Given the description of an element on the screen output the (x, y) to click on. 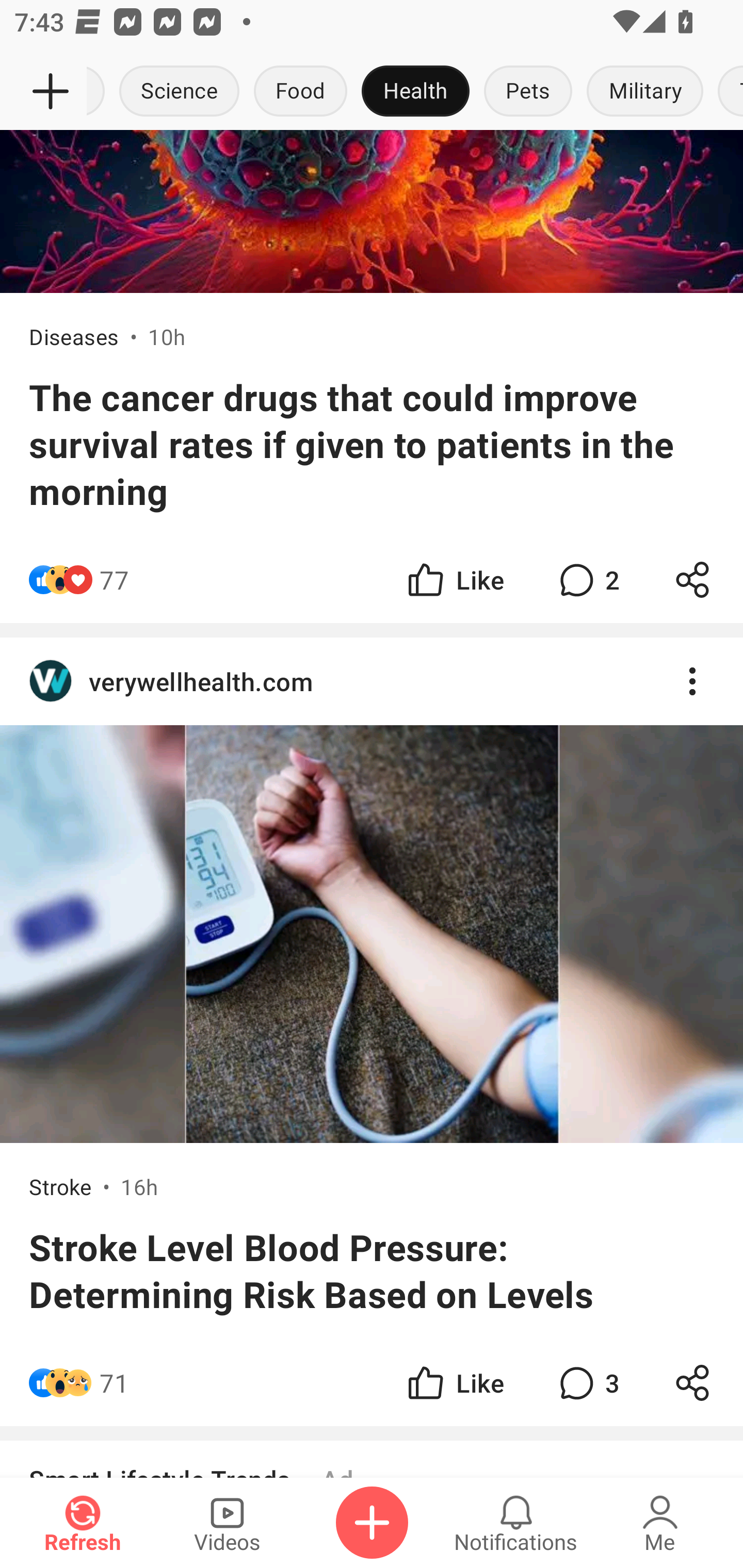
Science (179, 91)
Food (300, 91)
Health (415, 91)
Pets (528, 91)
Military (644, 91)
77 (114, 579)
Like (454, 579)
2 (587, 579)
verywellhealth.com (371, 681)
71 (114, 1382)
Like (454, 1382)
3 (587, 1382)
Videos (227, 1522)
Notifications (516, 1522)
Me (659, 1522)
